Given the description of an element on the screen output the (x, y) to click on. 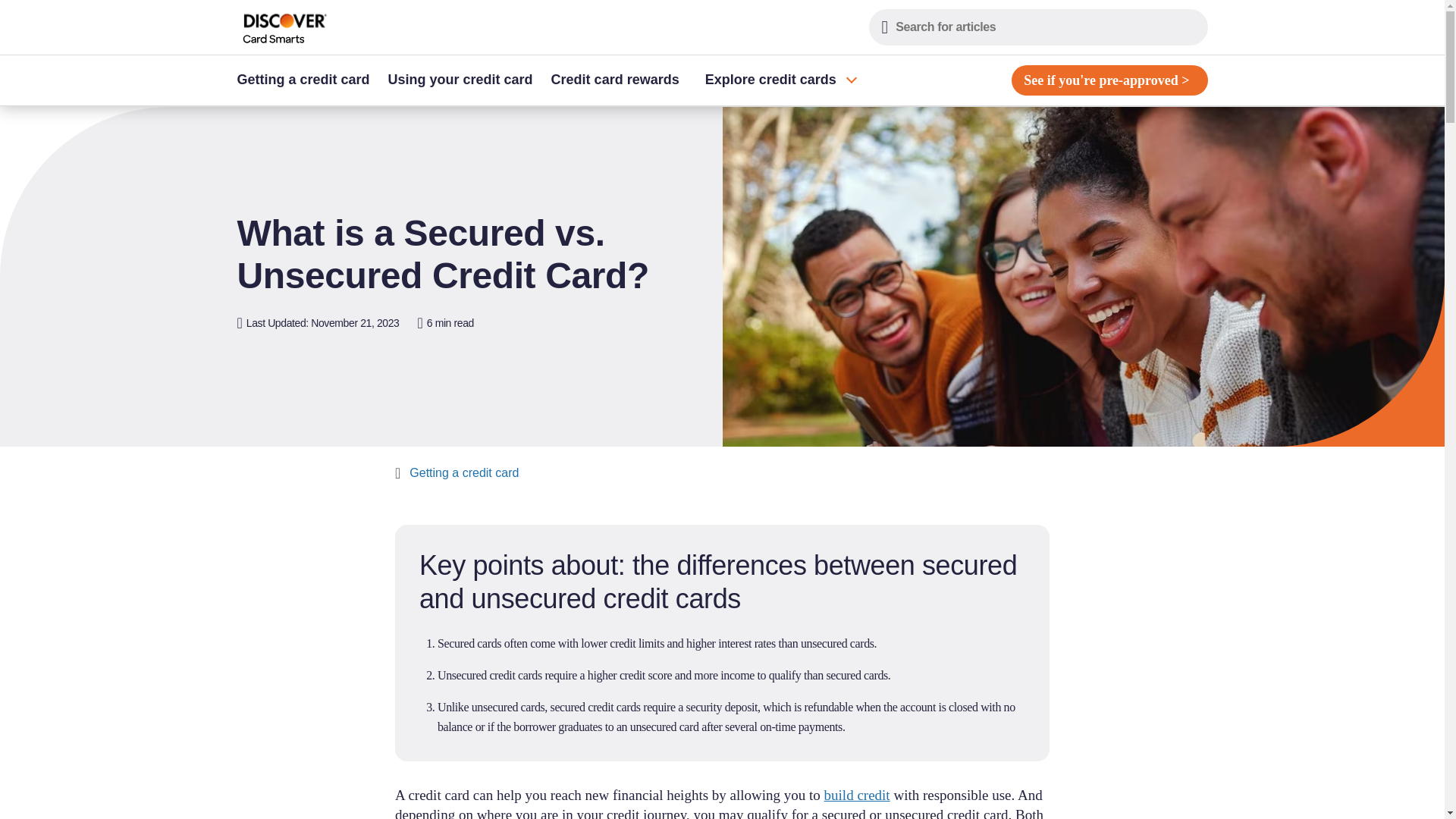
Getting a credit card (463, 473)
Getting a credit card (306, 80)
build credit (856, 795)
Using your credit card (459, 80)
Credit card rewards (614, 80)
Explore credit cards (775, 80)
